Given the description of an element on the screen output the (x, y) to click on. 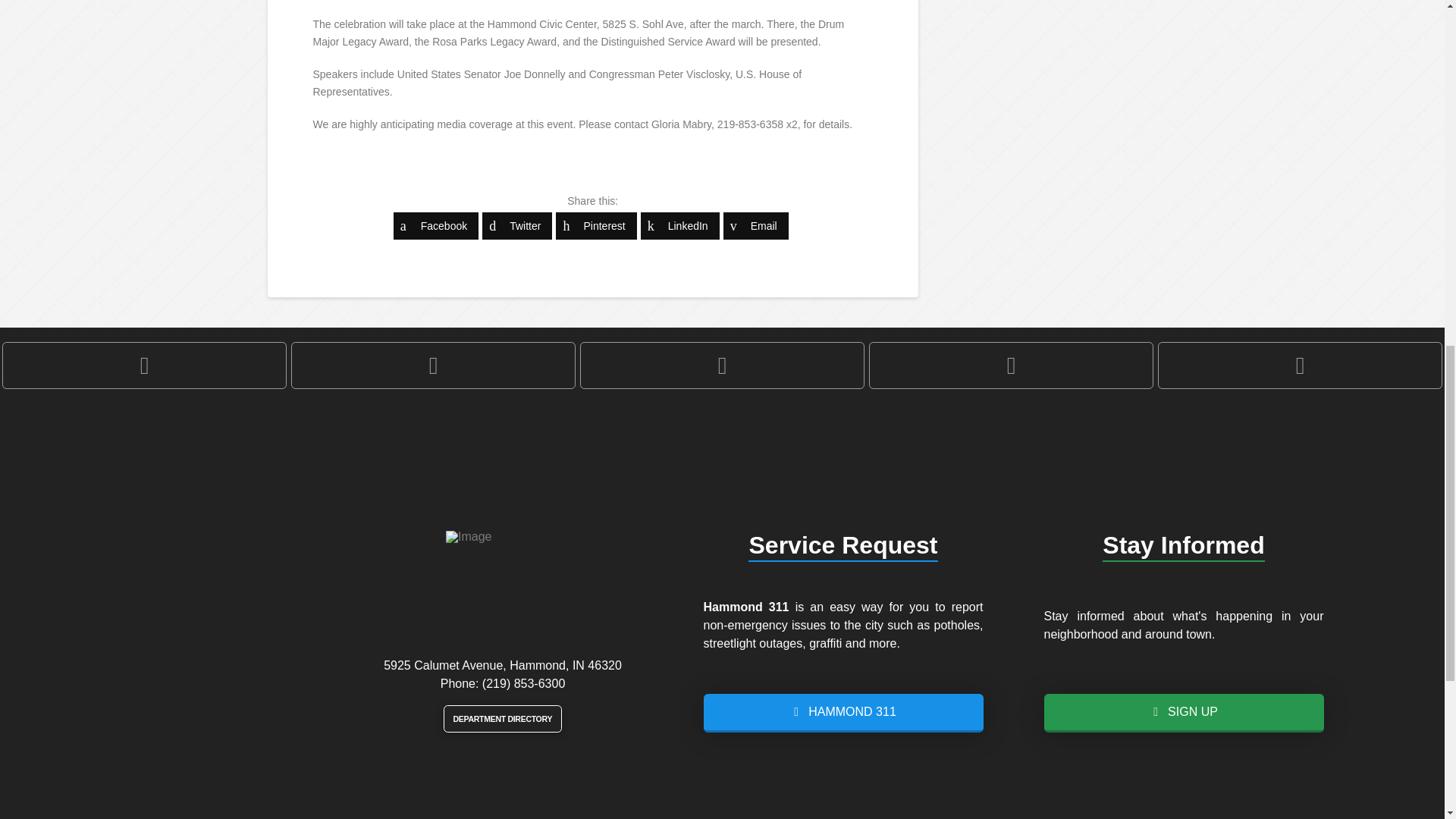
Facebook (436, 225)
Pinterest (596, 225)
Share on Twitter (516, 225)
Share on Pinterest (596, 225)
Share on LinkedIn (679, 225)
Twitter (516, 225)
LinkedIn (679, 225)
Share on Facebook (436, 225)
Share on Email (756, 225)
Email (756, 225)
